Given the description of an element on the screen output the (x, y) to click on. 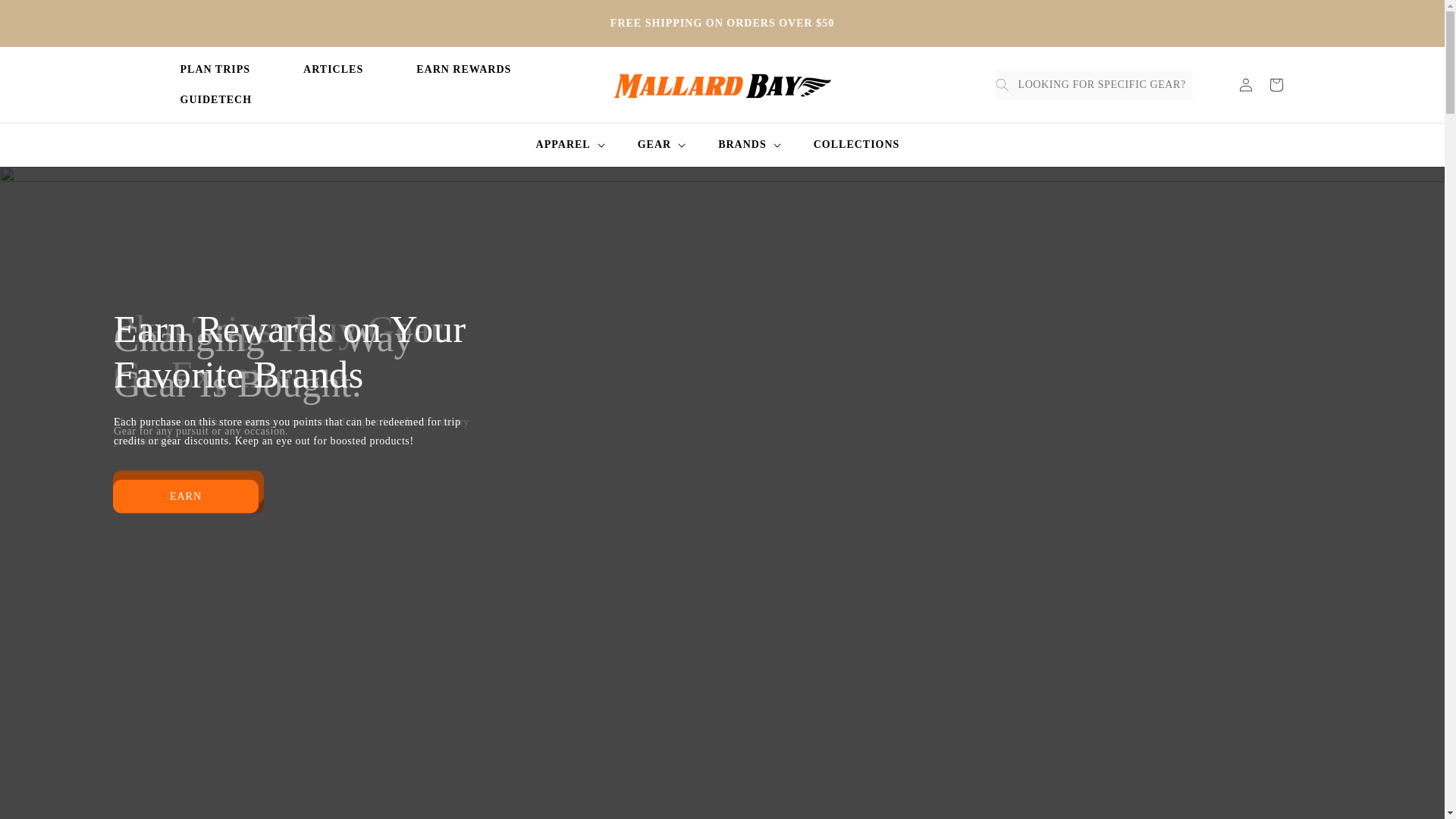
SKIP TO CONTENT (71, 15)
